Given the description of an element on the screen output the (x, y) to click on. 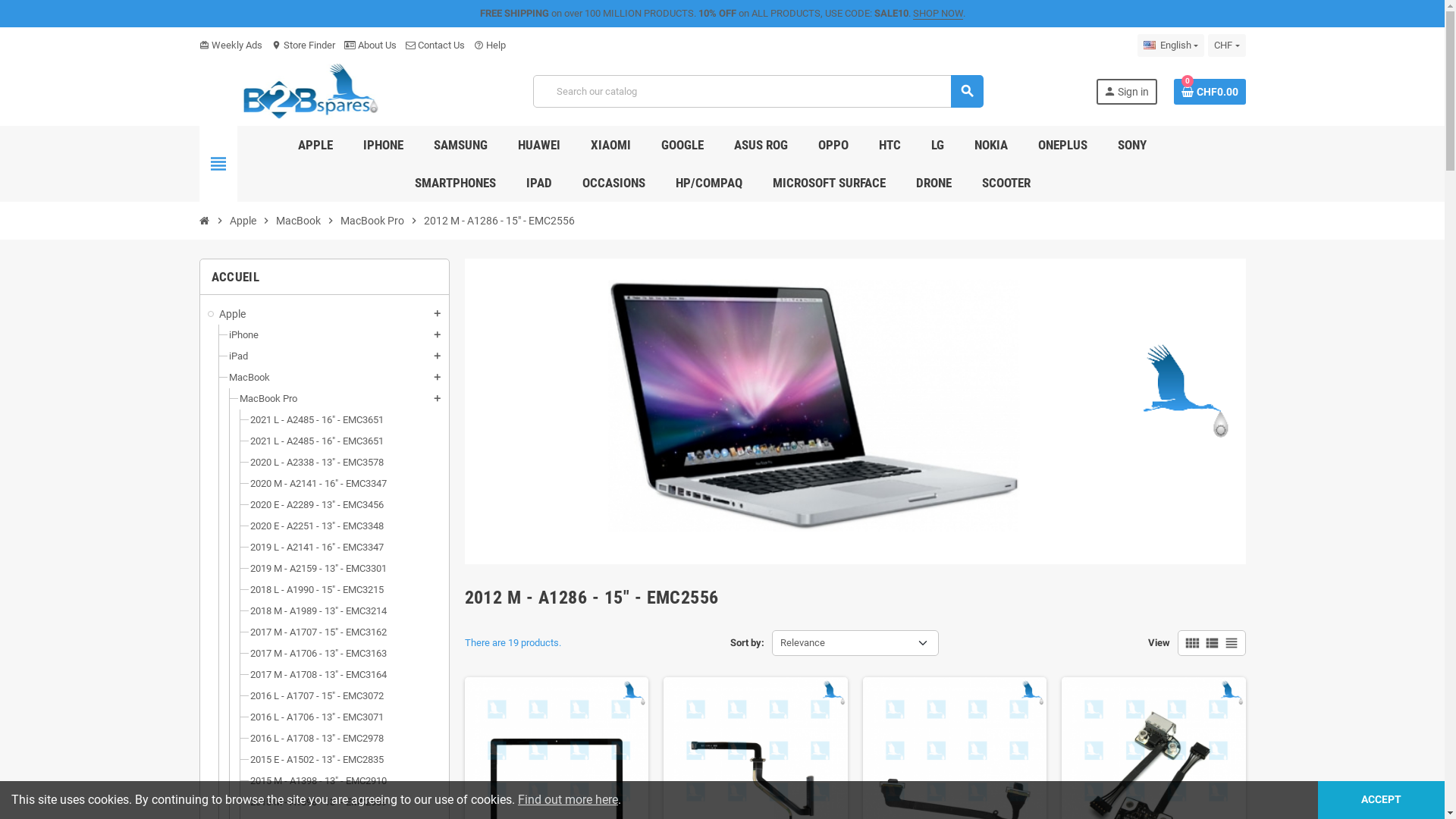
2017 M - A1708 - 13" - EMC3164 Element type: text (318, 674)
2020 E - A2251 - 13" - EMC3348 Element type: text (316, 525)
2020 E - A2289 - 13" - EMC3456 Element type: text (316, 504)
location_on Store Finder Element type: text (303, 44)
XIAOMI Element type: text (610, 144)
MacBook Pro Element type: text (371, 220)
2016 L - A1706 - 13" - EMC3071 Element type: text (316, 716)
SHOP NOW Element type: text (938, 13)
CHF Element type: text (1226, 45)
view_headline Element type: text (1230, 642)
Apple Element type: text (242, 220)
2016 L - A1707 - 15" - EMC3072 Element type: text (316, 695)
NOKIA Element type: text (991, 144)
MacBook Pro Element type: text (268, 398)
iPhone Element type: text (243, 334)
2020 L - A2338 - 13" - EMC3578 Element type: text (316, 461)
2017 M - A1706 - 13" - EMC3163 Element type: text (318, 652)
APPLE Element type: text (315, 144)
2015 E - A1502 - 13" - EMC2835 Element type: text (316, 759)
SONY Element type: text (1131, 144)
ONEPLUS Element type: text (1062, 144)
2015 M - A1398 - 13" - EMC2909 Element type: text (318, 801)
IPAD Element type: text (538, 182)
IPHONE Element type: text (382, 144)
HTC Element type: text (889, 144)
SAMSUNG Element type: text (460, 144)
person
Sign in Element type: text (1126, 91)
view_list Element type: text (1210, 642)
2021 L - A2485 - 16" - EMC3651 Element type: text (316, 419)
MacBook Element type: text (297, 220)
2017 M - A1707 - 15" - EMC3162 Element type: text (318, 631)
HP/COMPAQ Element type: text (708, 182)
2019 L - A2141 - 16" - EMC3347 Element type: text (316, 546)
MICROSOFT SURFACE Element type: text (829, 182)
2020 M - A2141 - 16" - EMC3347 Element type: text (318, 483)
2021 L - A2485 - 16" - EMC3651 Element type: text (316, 440)
2018 L - A1990 - 15" - EMC3215 Element type: text (316, 589)
MacBook Element type: text (249, 376)
OCCASIONS Element type: text (612, 182)
ASUS ROG Element type: text (760, 144)
2019 M - A2159 - 13" - EMC3301 Element type: text (318, 568)
view_comfy Element type: text (1191, 642)
help_outline Help Element type: text (489, 44)
HUAWEI Element type: text (538, 144)
2018 M - A1989 - 13" - EMC3214 Element type: text (318, 610)
Relevance Element type: text (854, 642)
Contact Us Element type: text (434, 44)
SMARTPHONES Element type: text (455, 182)
OPPO Element type: text (832, 144)
2015 M - A1398 - 13" - EMC2910 Element type: text (318, 780)
About Us Element type: text (370, 44)
iPad Element type: text (238, 355)
0
CHF0.00 Element type: text (1209, 91)
GOOGLE Element type: text (682, 144)
DRONE Element type: text (932, 182)
LG Element type: text (937, 144)
2016 L - A1708 - 13" - EMC2978 Element type: text (316, 737)
SCOOTER Element type: text (1005, 182)
search Element type: text (966, 91)
  English Element type: text (1170, 45)
Apple Element type: text (324, 313)
B2BSPares.ch - OMNISA SA Element type: hover (309, 90)
card_giftcard Weekly Ads Element type: text (229, 44)
Find out more here Element type: text (567, 799)
